Given the description of an element on the screen output the (x, y) to click on. 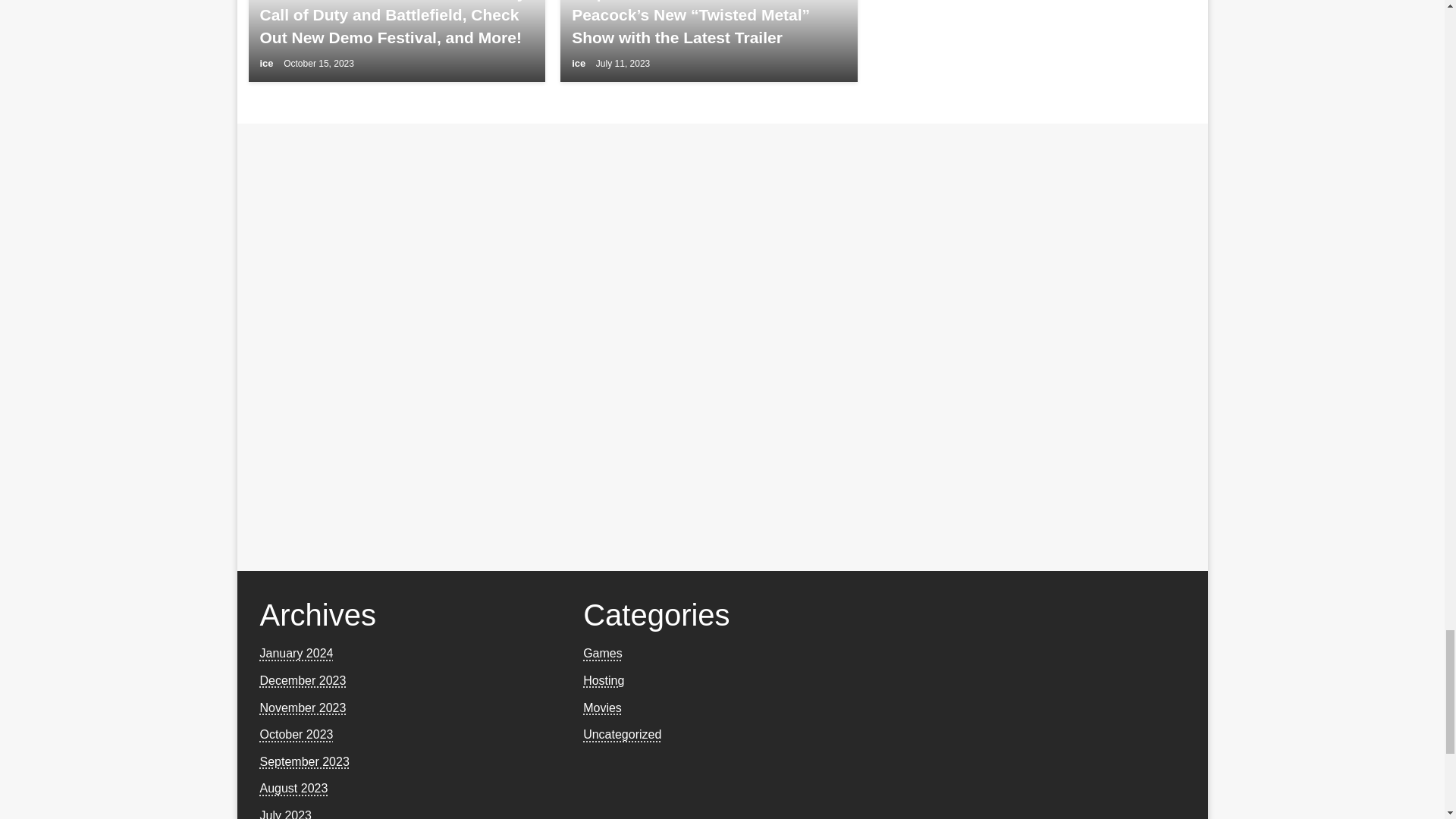
ice (267, 62)
ice (580, 62)
